Given the description of an element on the screen output the (x, y) to click on. 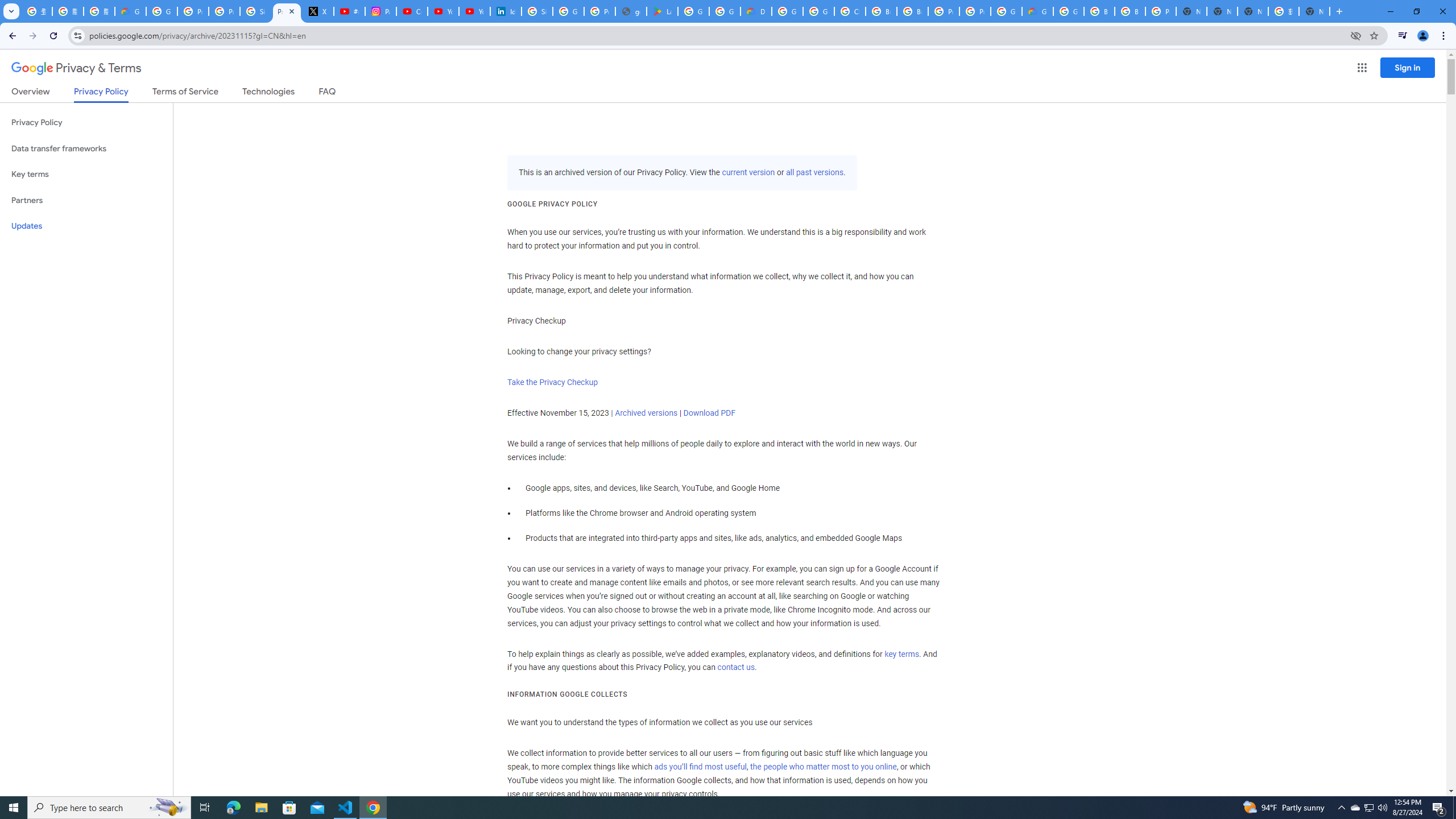
Google Cloud Platform (1005, 11)
Sign in - Google Accounts (255, 11)
Take the Privacy Checkup (552, 381)
Sign in - Google Accounts (536, 11)
